Given the description of an element on the screen output the (x, y) to click on. 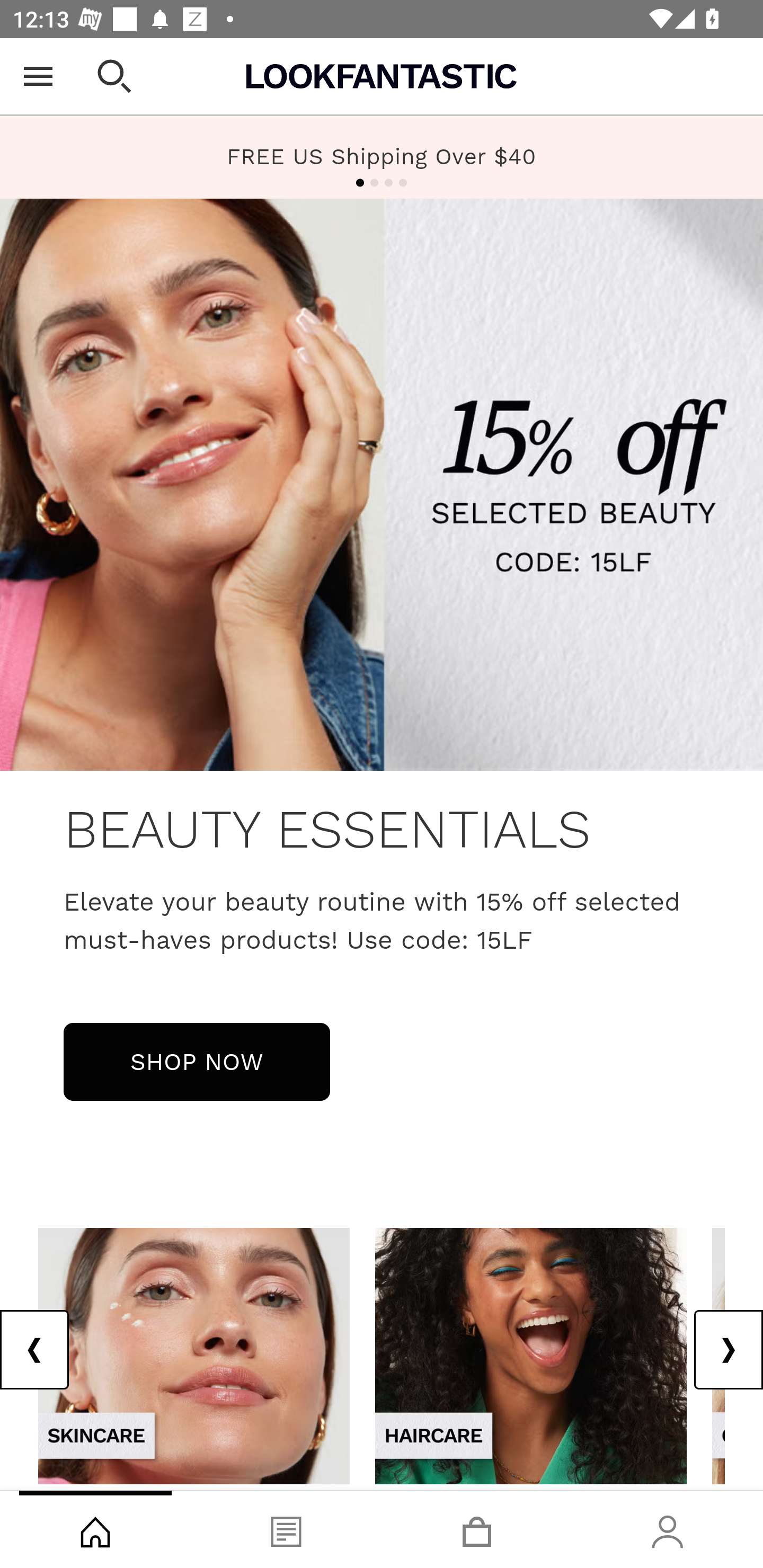
Open Menu (38, 75)
Open search (114, 75)
Lookfantastic USA (381, 75)
FREE US Shipping Over $40 (381, 157)
FREE US Shipping Over $40 (381, 155)
SHOP NOW (196, 1061)
view-all (193, 1355)
view-all (530, 1355)
Previous (35, 1349)
Next (727, 1349)
Shop, tab, 1 of 4 (95, 1529)
Blog, tab, 2 of 4 (285, 1529)
Basket, tab, 3 of 4 (476, 1529)
Account, tab, 4 of 4 (667, 1529)
